Given the description of an element on the screen output the (x, y) to click on. 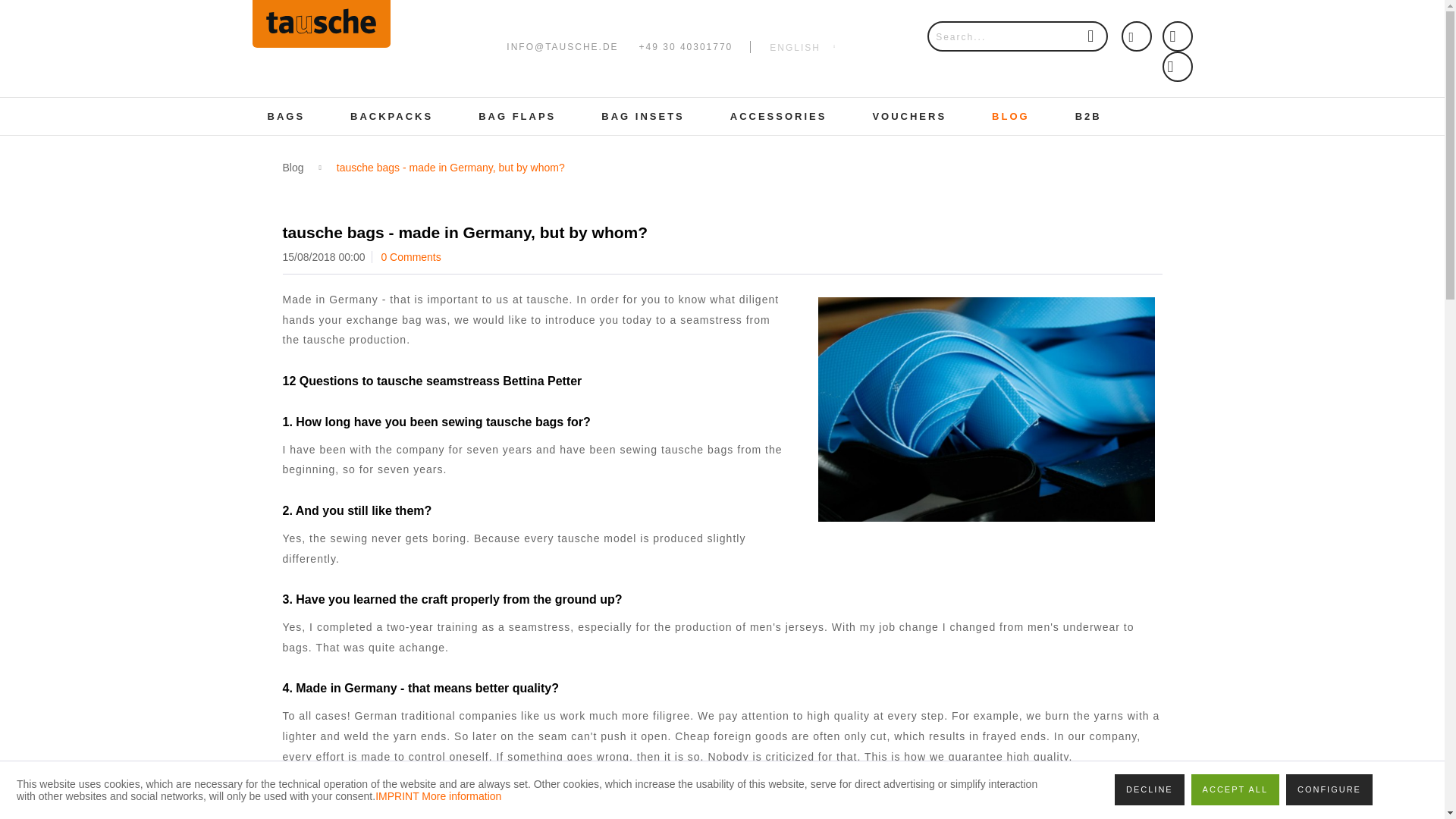
Bags (285, 116)
BAG FLAPS (516, 116)
VOUCHERS (908, 116)
Blog (293, 167)
My account (1176, 36)
Wish list (1136, 36)
BLOG (1010, 116)
BAG INSETS (642, 116)
VOUCHERS (908, 116)
Bag Flaps (516, 116)
